Given the description of an element on the screen output the (x, y) to click on. 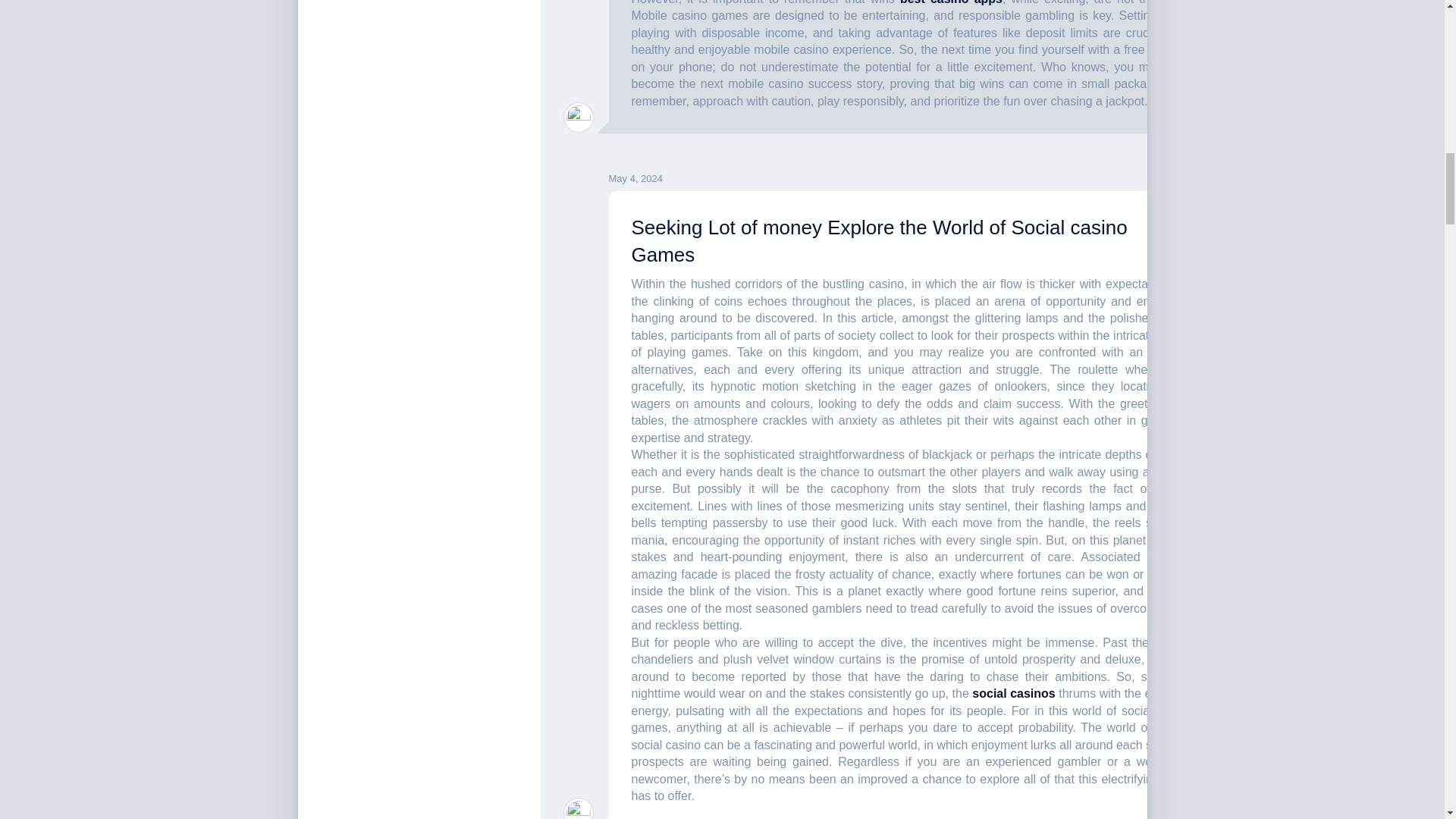
social casinos (1013, 693)
best casino apps (951, 2)
